Given the description of an element on the screen output the (x, y) to click on. 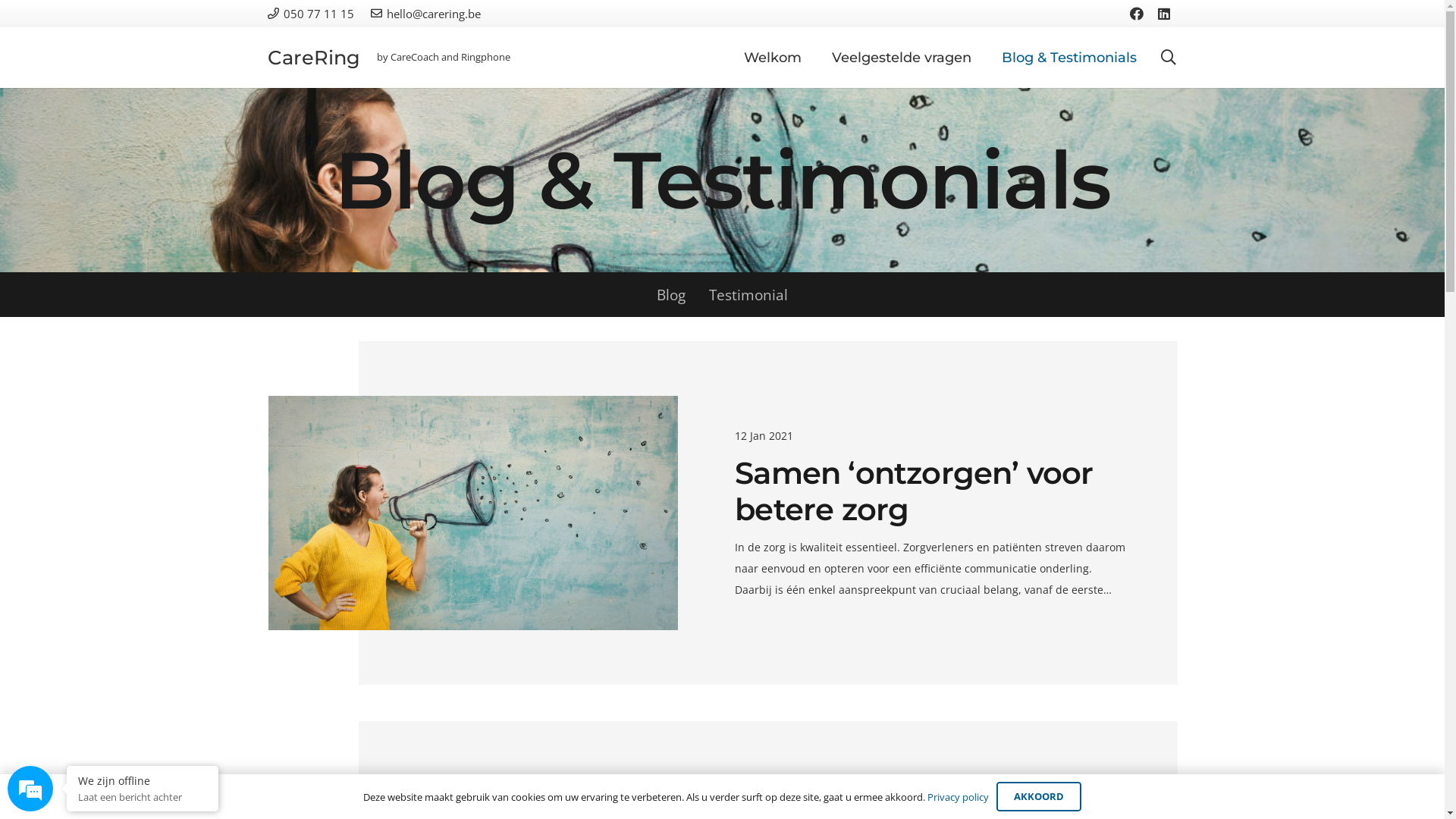
Testimonial Element type: text (748, 294)
LinkedIn Element type: hover (973, 632)
Blog & Testimonials Element type: text (1120, 776)
CareCoach Element type: text (414, 56)
Welkom Element type: text (772, 57)
LinkedIn Element type: hover (1163, 13)
hello@carering.be Element type: text (990, 361)
hello@carering.be Element type: text (425, 13)
Blog Element type: text (671, 294)
050 77 11 15 Element type: text (973, 390)
Ringphone Element type: text (502, 776)
CareCoach BV Element type: text (1000, 419)
Veelgestelde vragen Element type: text (988, 776)
050 77 11 15 Element type: text (309, 13)
CareCoach Element type: text (413, 776)
Ringphone BV Element type: text (1000, 516)
Facebook Element type: hover (929, 632)
Ringphone Element type: text (485, 56)
Blog & Testimonials Element type: text (1068, 57)
Welkom Element type: text (889, 776)
Privacy policy Element type: text (957, 796)
Facebook Element type: hover (1136, 13)
CareRing Element type: text (336, 776)
Veelgestelde vragen Element type: text (901, 57)
AKKOORD Element type: text (1039, 796)
CareRing Element type: text (312, 57)
